Given the description of an element on the screen output the (x, y) to click on. 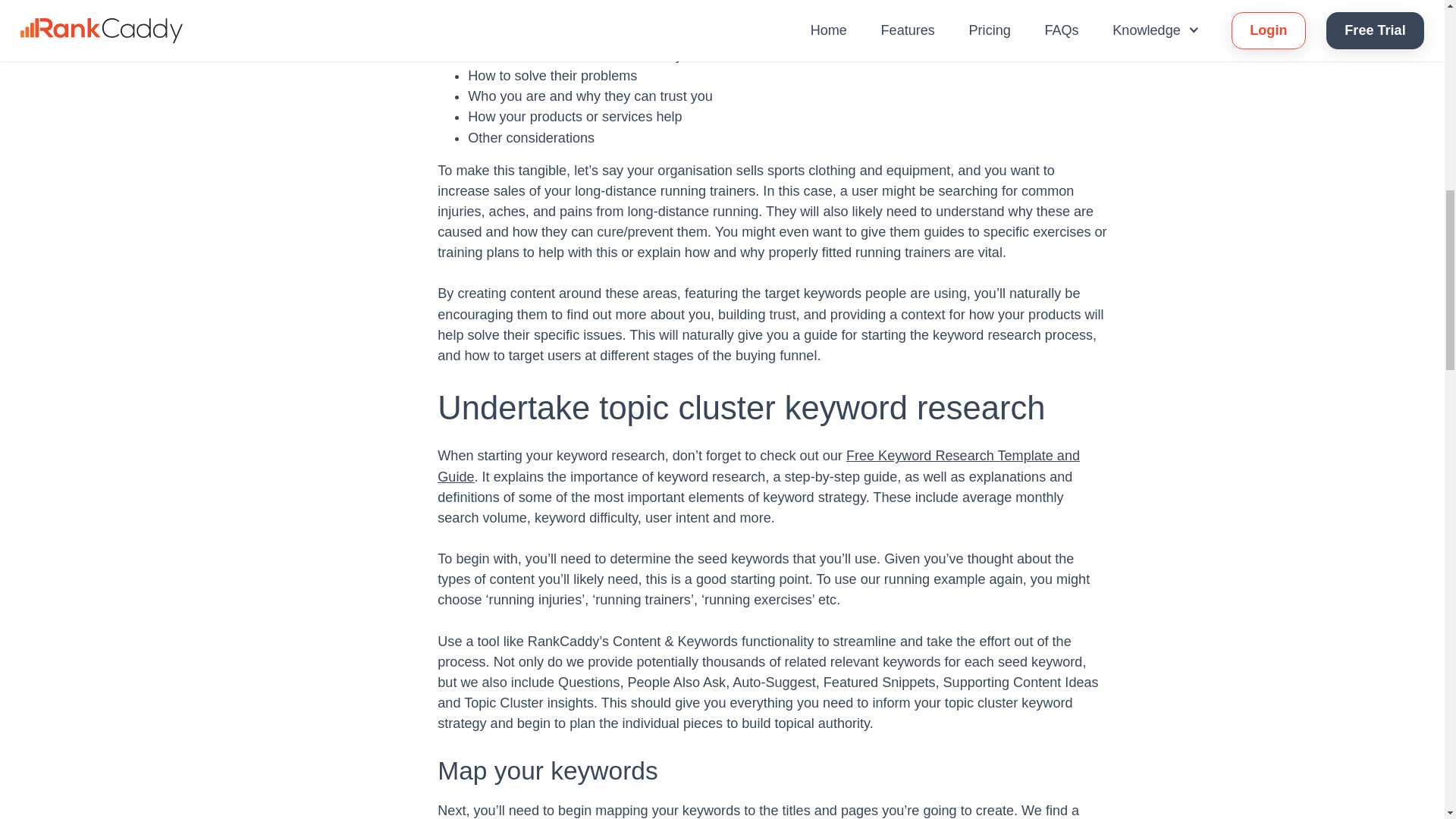
Free Keyword Research Template and Guide (759, 465)
